Given the description of an element on the screen output the (x, y) to click on. 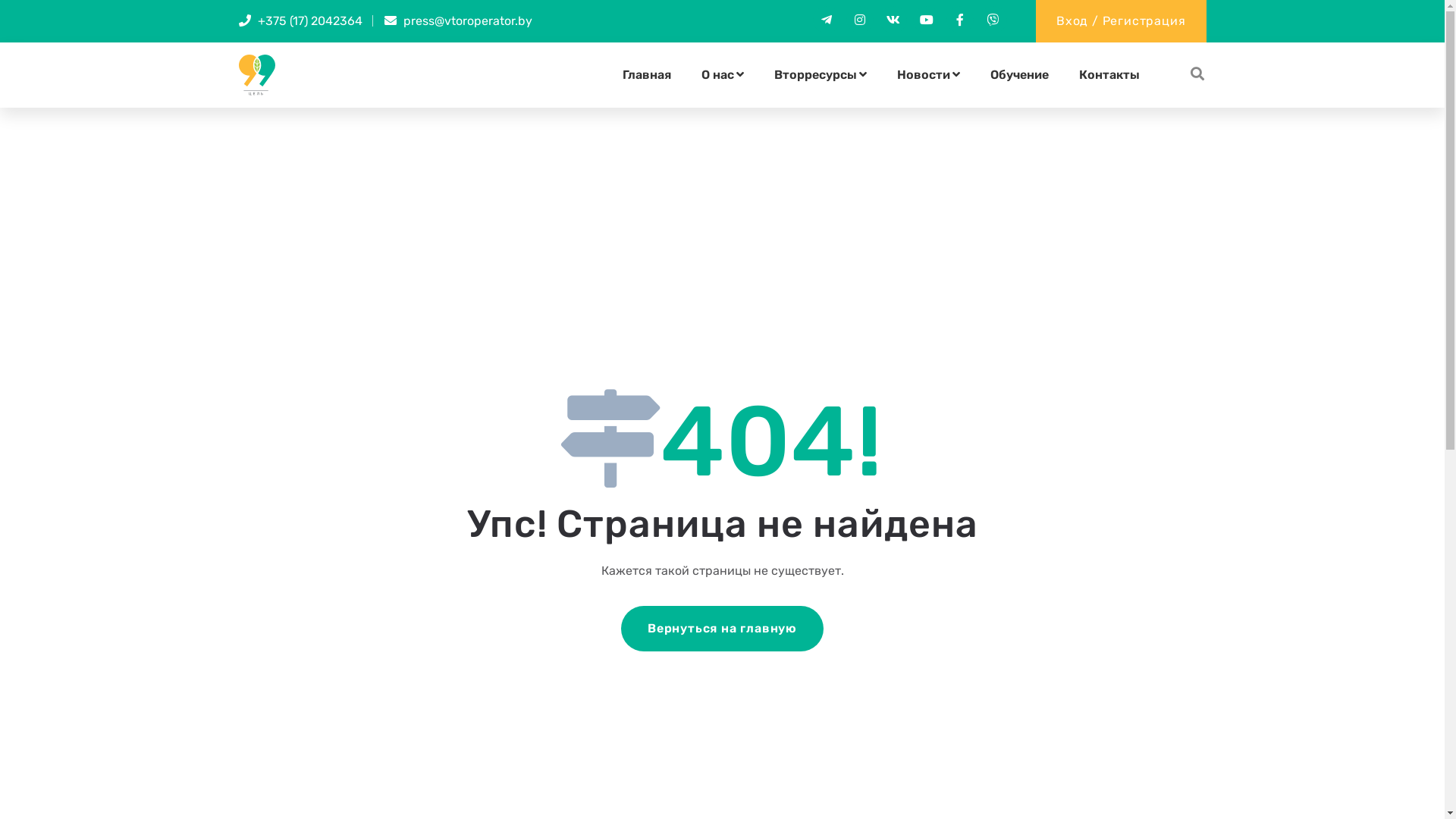
press@vtoroperator.by Element type: text (467, 20)
+375 (17) 2042364 Element type: text (309, 20)
